Given the description of an element on the screen output the (x, y) to click on. 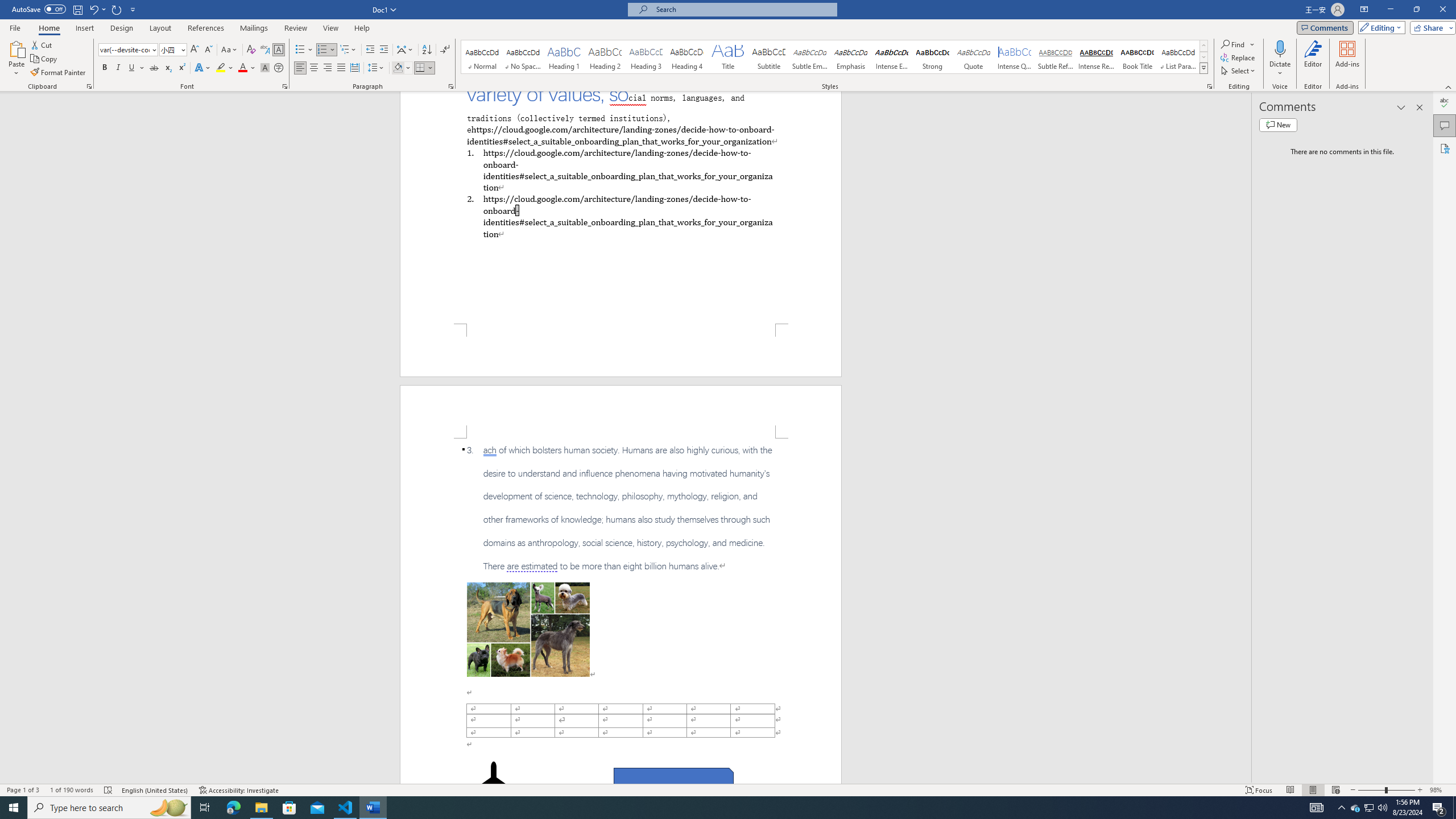
Intense Quote (1014, 56)
Multilevel List (347, 49)
Paragraph... (450, 85)
Format Painter (58, 72)
Title (727, 56)
Font Color Automatic (241, 67)
Subtle Emphasis (809, 56)
